Given the description of an element on the screen output the (x, y) to click on. 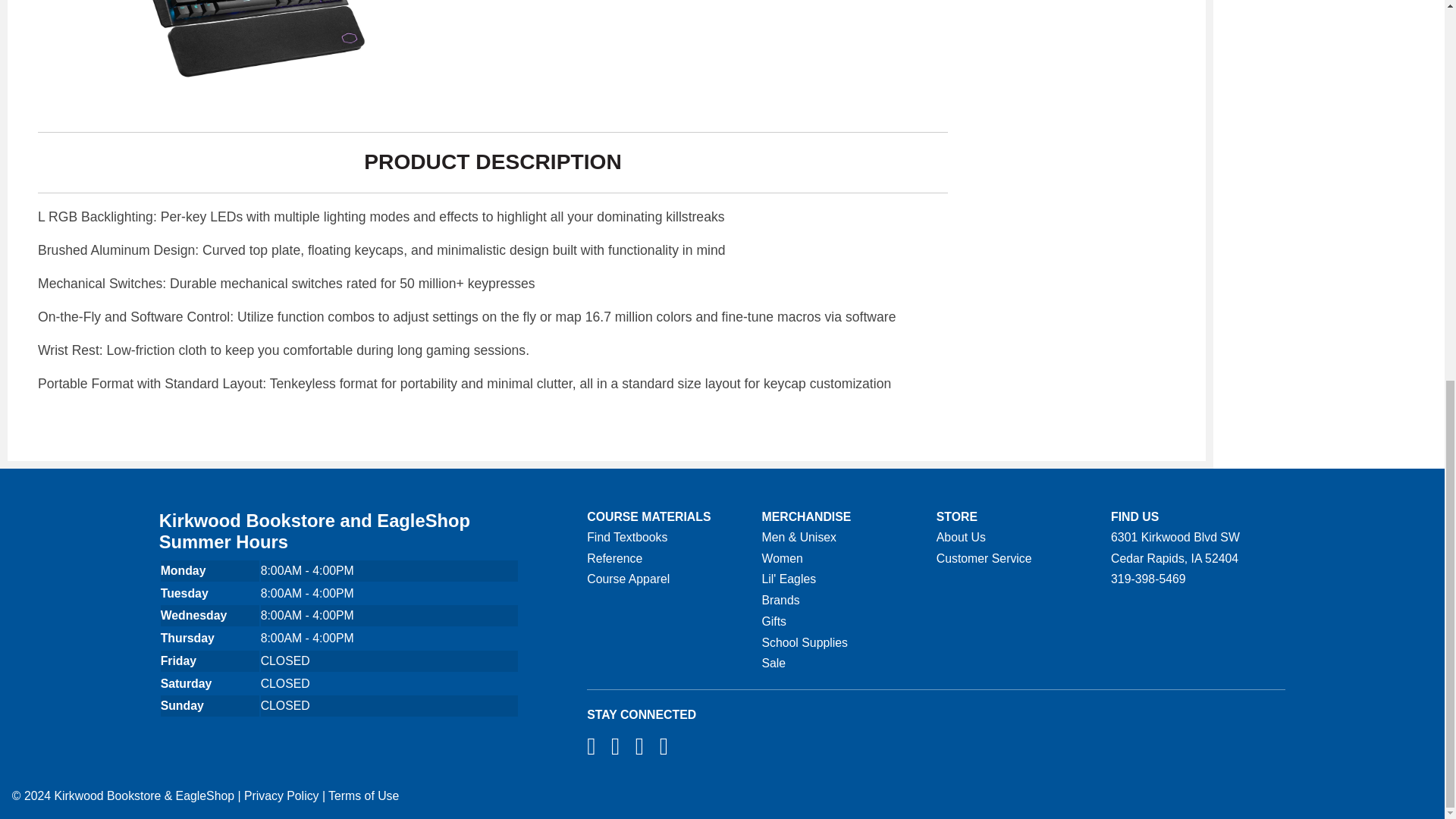
Cooler Master CK530 (251, 48)
